Given the description of an element on the screen output the (x, y) to click on. 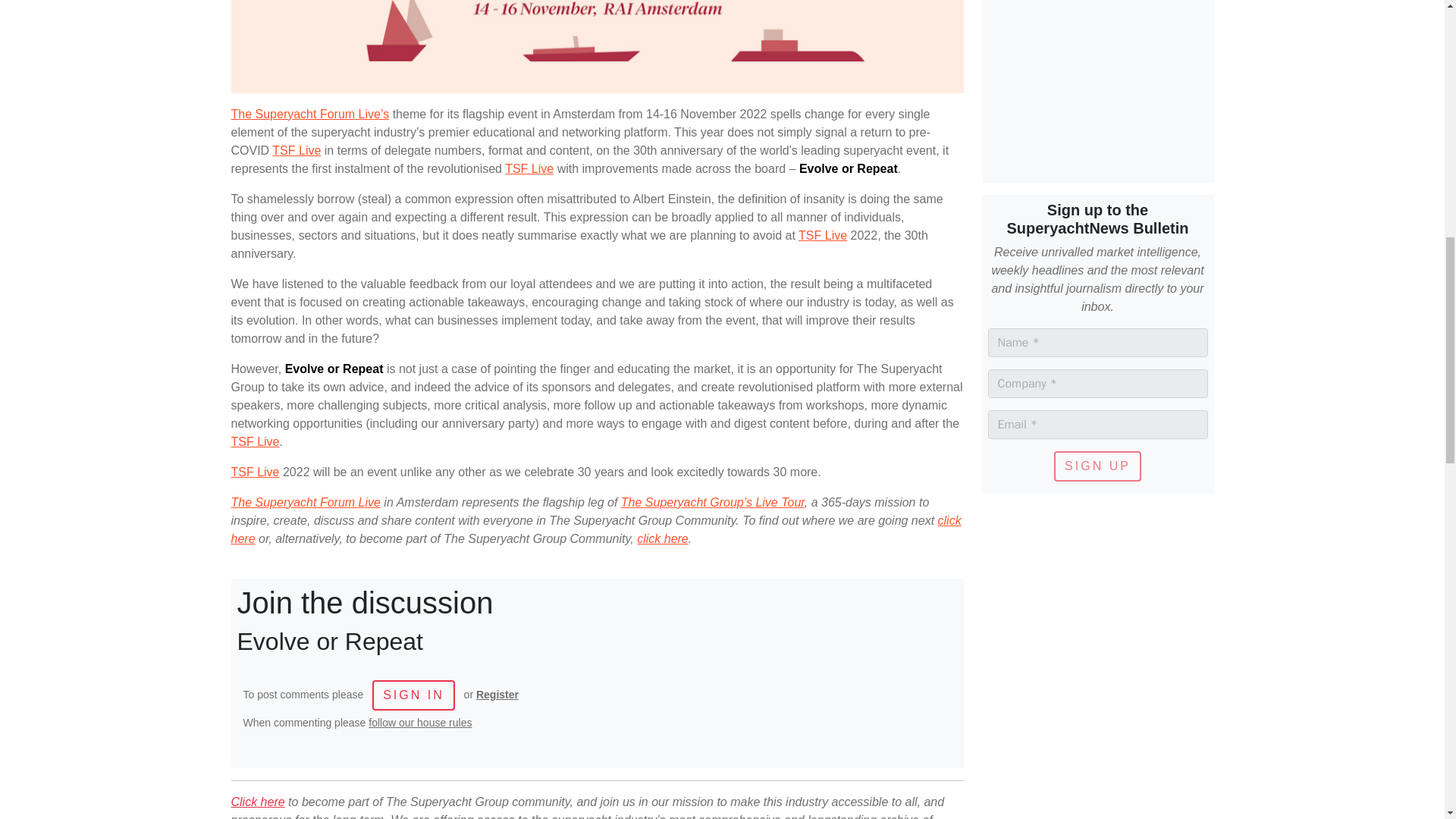
click here (595, 529)
TSF Live (529, 168)
TSF Live (254, 440)
3rd party ad content (1097, 85)
Click here (256, 801)
click here (662, 538)
TSF Live (296, 150)
follow our house rules (419, 722)
TSF Live (822, 235)
The Superyacht Forum Live (305, 502)
TSF Live (254, 472)
